Given the description of an element on the screen output the (x, y) to click on. 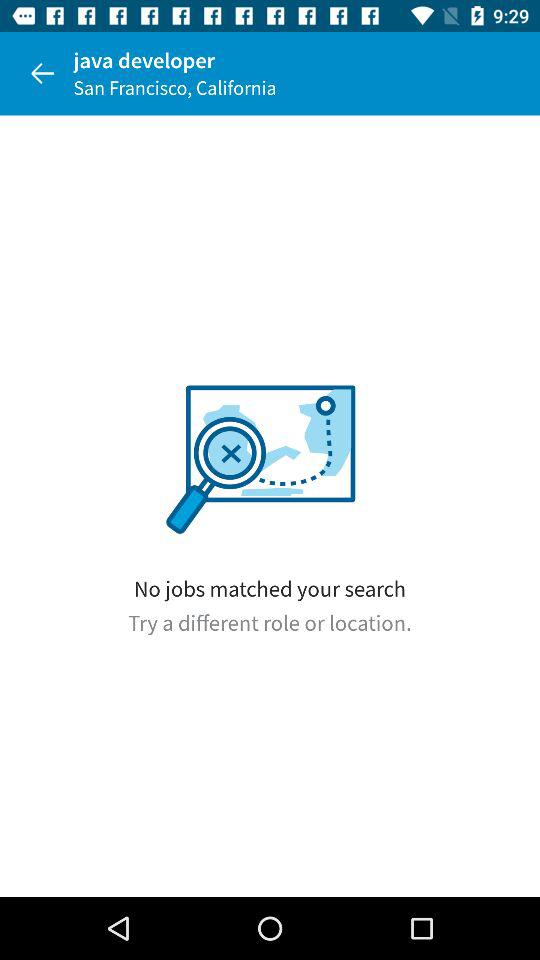
select item to the left of the java developer icon (41, 73)
